Given the description of an element on the screen output the (x, y) to click on. 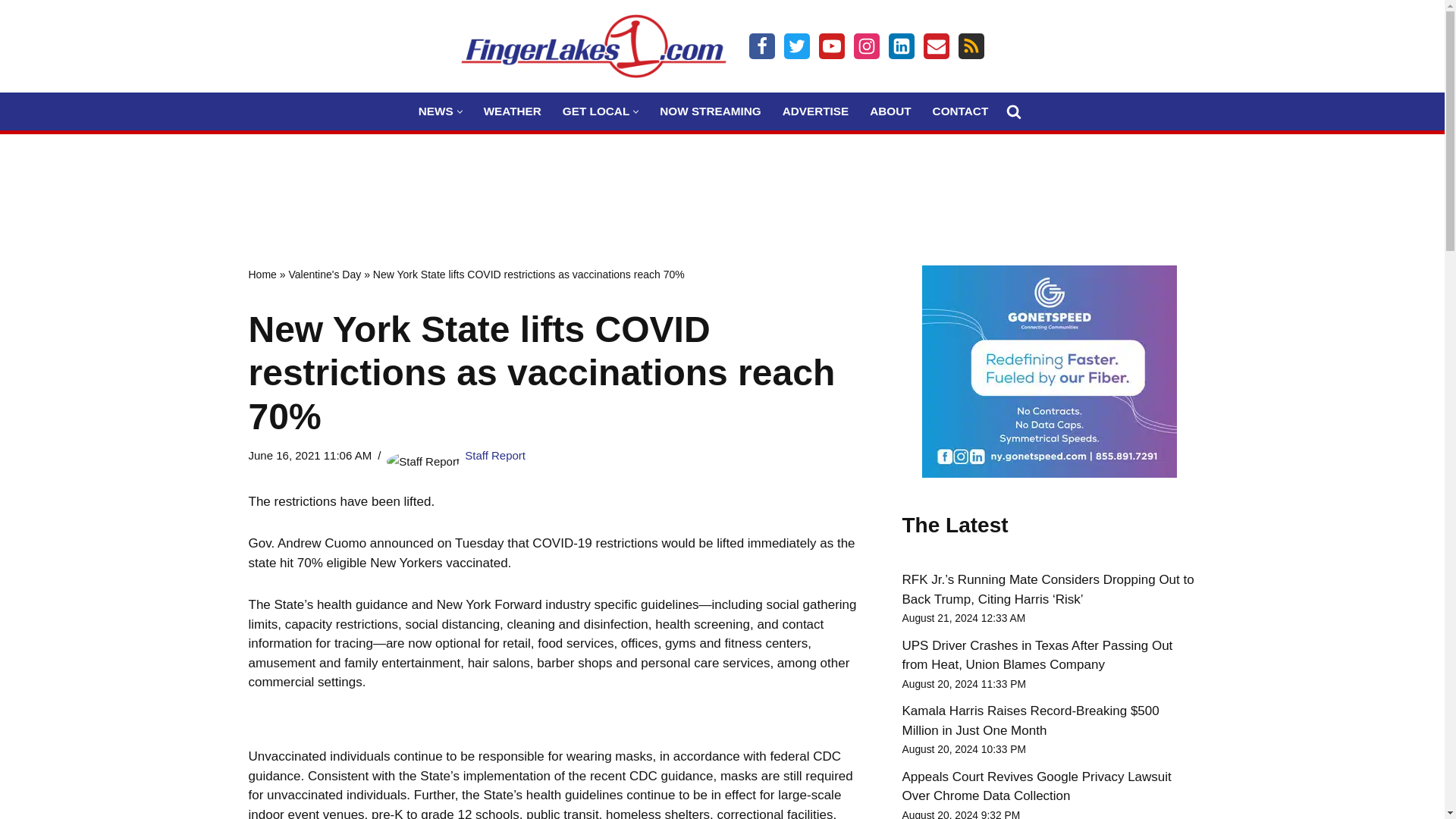
Skip to content (11, 31)
Instagram (866, 45)
Youtube (831, 45)
CONTACT (960, 111)
NEWS (435, 111)
Posts by Staff Report (494, 454)
Facebook (761, 45)
WEATHER (512, 111)
Email Us (936, 45)
ADVERTISE (815, 111)
